Given the description of an element on the screen output the (x, y) to click on. 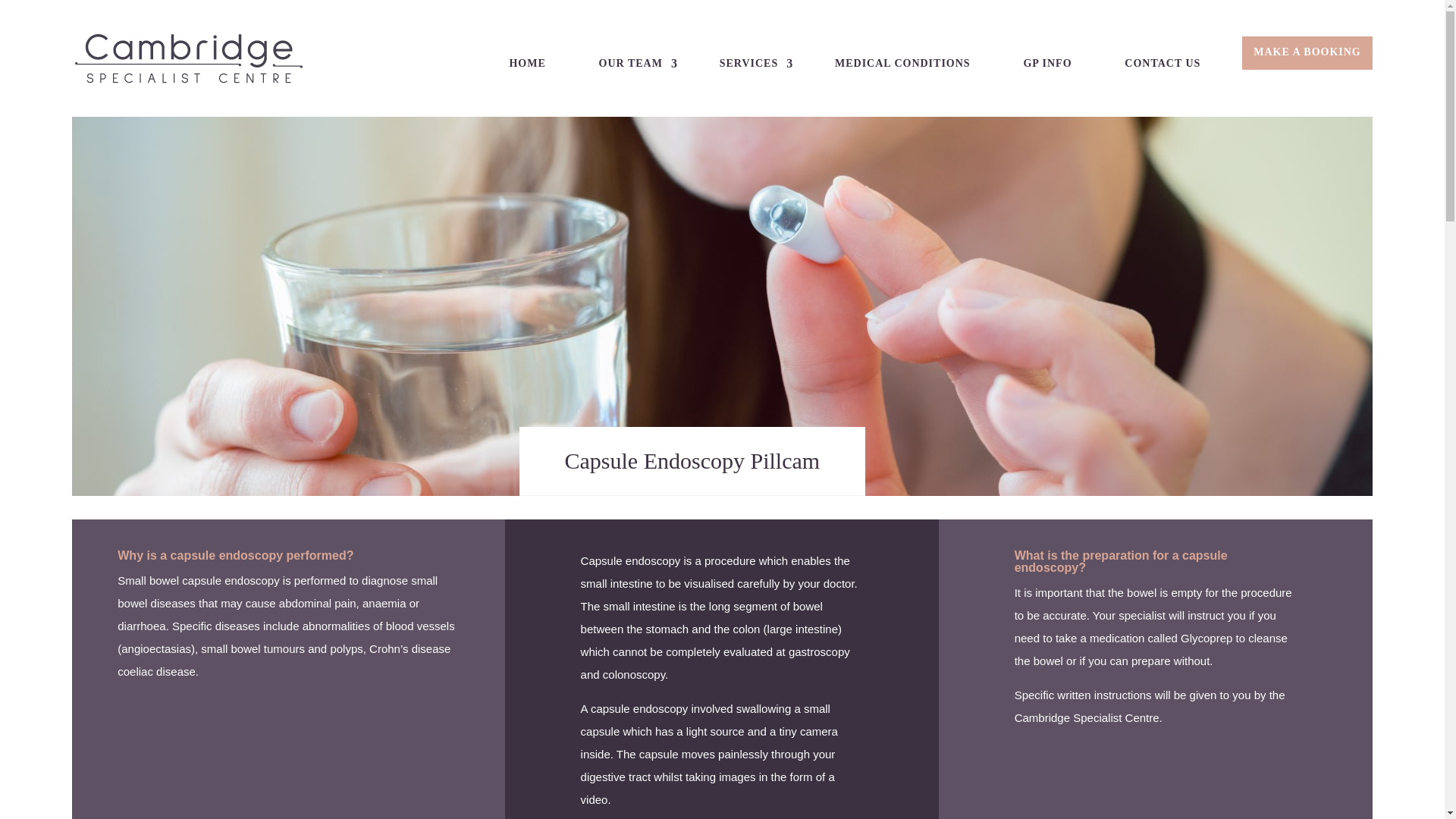
GP INFO (1047, 76)
MEDICAL CONDITIONS (902, 76)
SERVICES (750, 76)
CONTACT US (1162, 76)
HOME (526, 76)
OUR TEAM (633, 76)
MAKE A BOOKING (1307, 64)
